Given the description of an element on the screen output the (x, y) to click on. 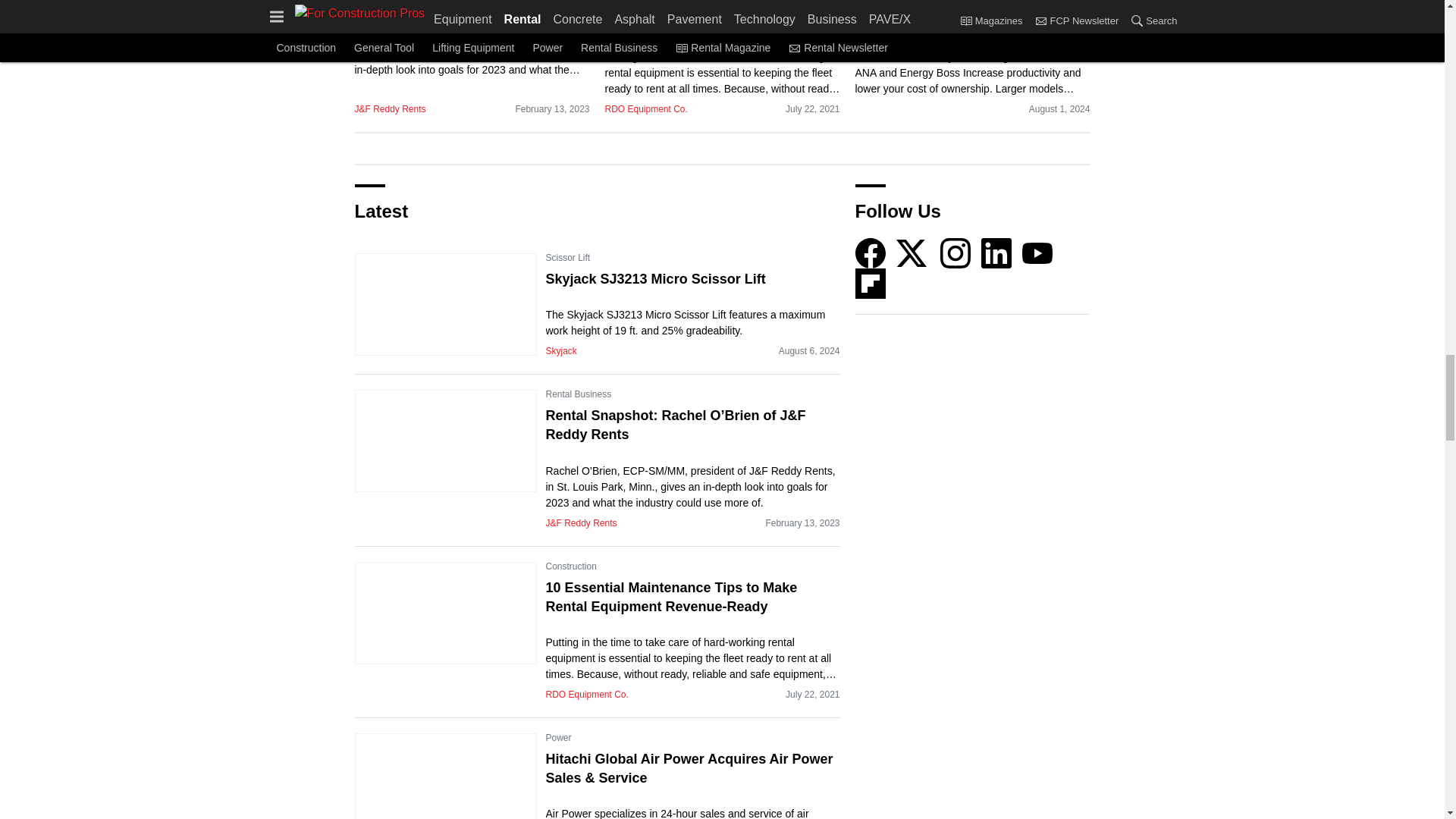
Instagram icon (955, 253)
Flipboard icon (870, 283)
Facebook icon (870, 253)
Twitter X icon (911, 253)
LinkedIn icon (996, 253)
YouTube icon (1037, 253)
